Given the description of an element on the screen output the (x, y) to click on. 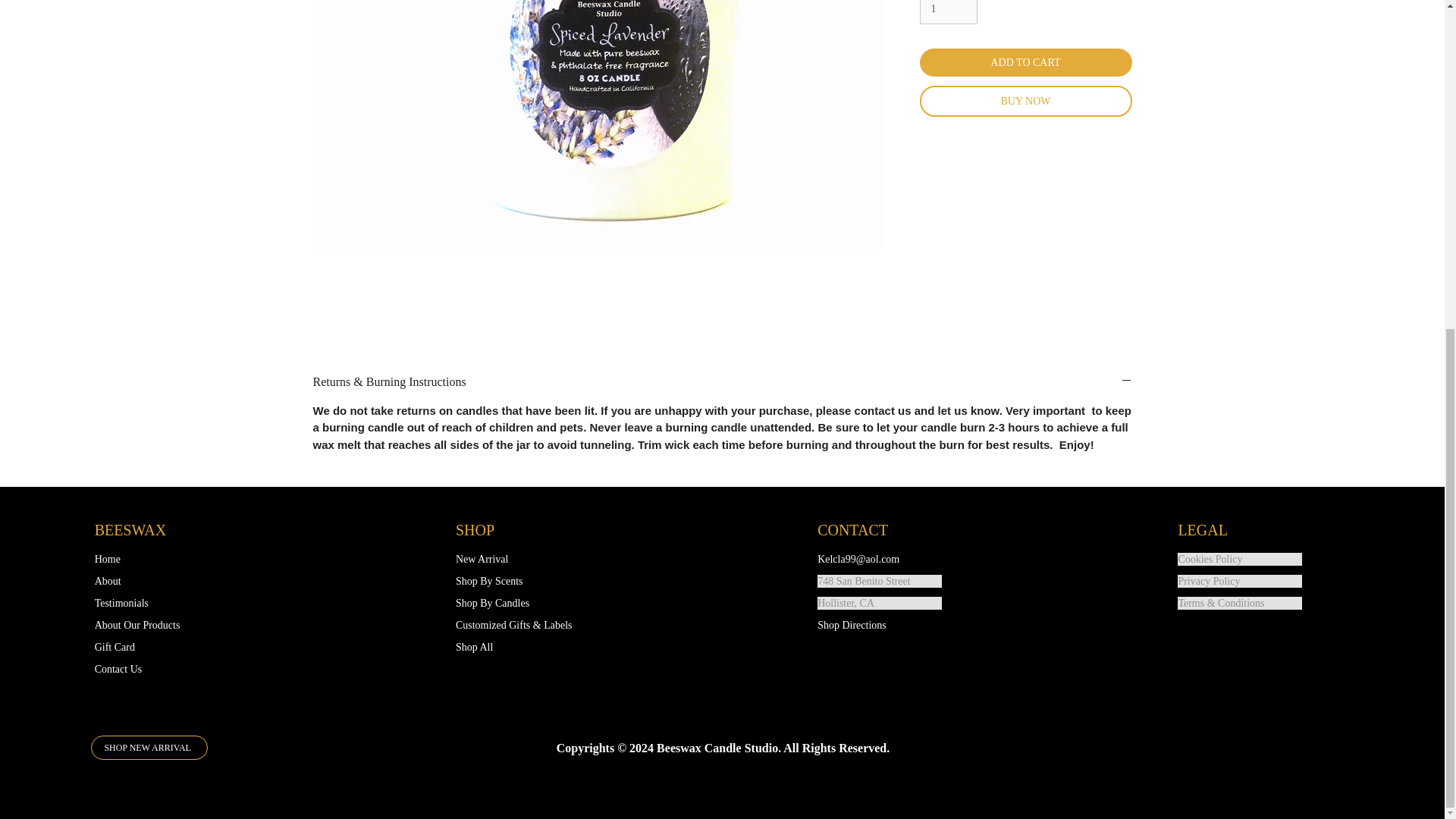
Home (156, 558)
About (156, 581)
BUY NOW (1024, 101)
Contact Us (156, 668)
New Arrival (517, 558)
Testimonials (156, 603)
Gift Card (156, 646)
ADD TO CART (1024, 62)
About Our Products (156, 625)
Shop By Scents (517, 581)
1 (947, 12)
